Given the description of an element on the screen output the (x, y) to click on. 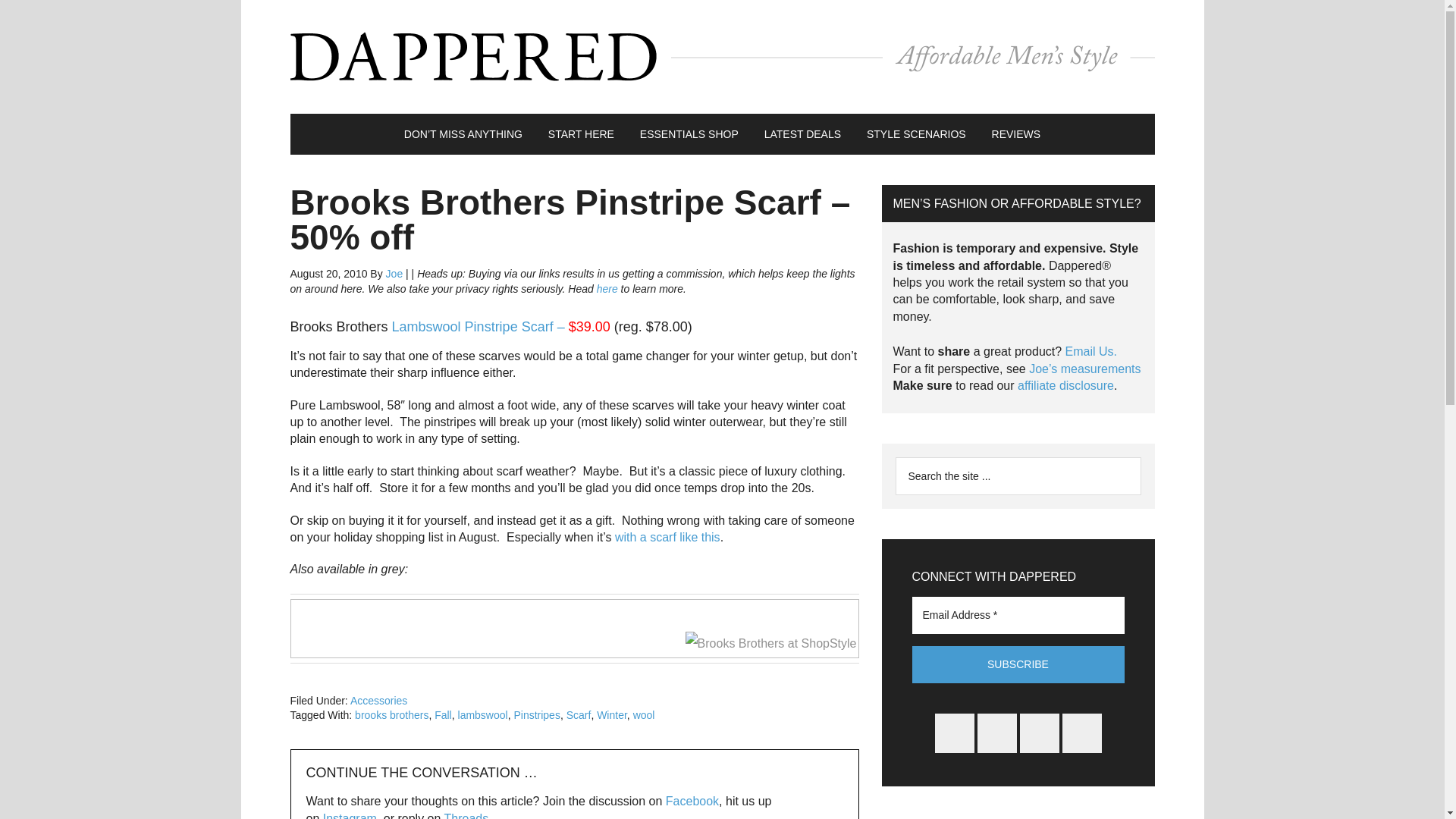
Scarf (578, 715)
with a scarf like this (667, 536)
Pinstripes (536, 715)
Email Us. (1090, 350)
brooks brothers (391, 715)
Threads (466, 815)
Fall (442, 715)
Winter (611, 715)
REVIEWS (1015, 133)
Dappered (721, 56)
Instagram (350, 815)
Email Address (1017, 614)
